Given the description of an element on the screen output the (x, y) to click on. 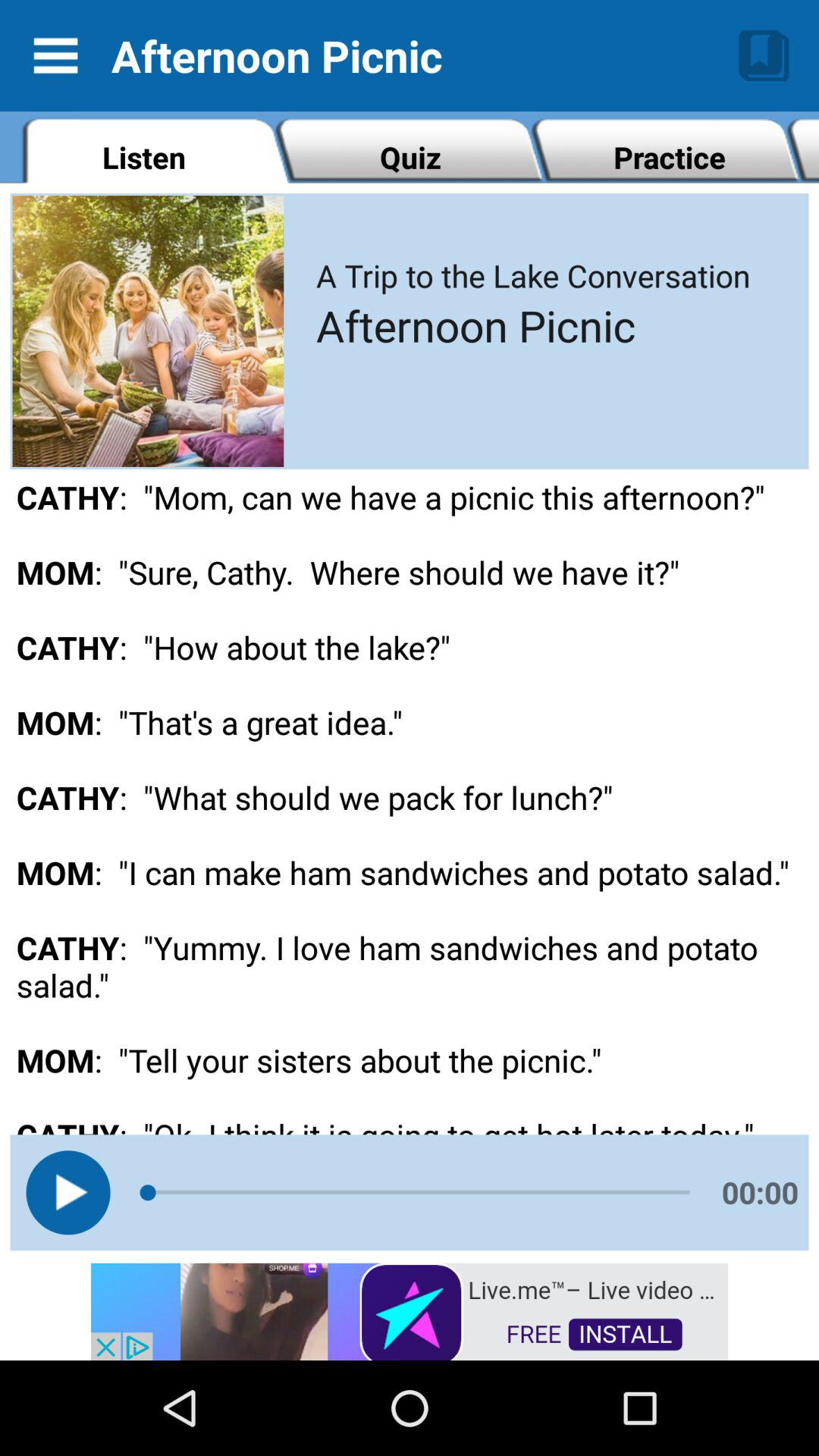
play audio (68, 1192)
